Given the description of an element on the screen output the (x, y) to click on. 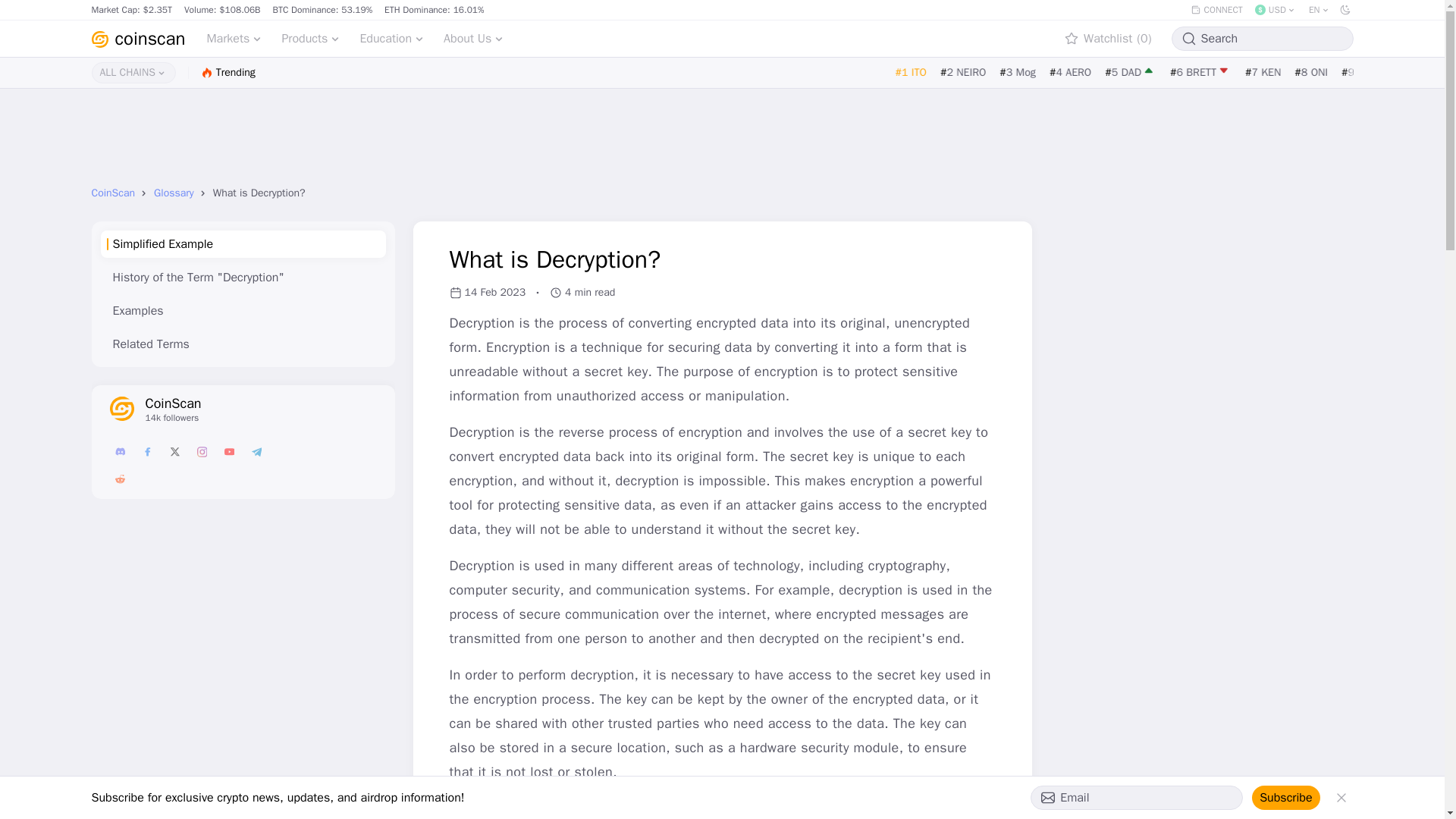
Products (311, 38)
EN (1319, 9)
Markets (234, 38)
Education (391, 38)
About Us (473, 38)
coinscan (137, 38)
Related Terms (242, 344)
Subscribe (1285, 797)
USD (1276, 9)
ALL CHAINS (132, 72)
History of the Term "Decryption" (242, 277)
CONNECT (1217, 9)
Trending (228, 72)
